Given the description of an element on the screen output the (x, y) to click on. 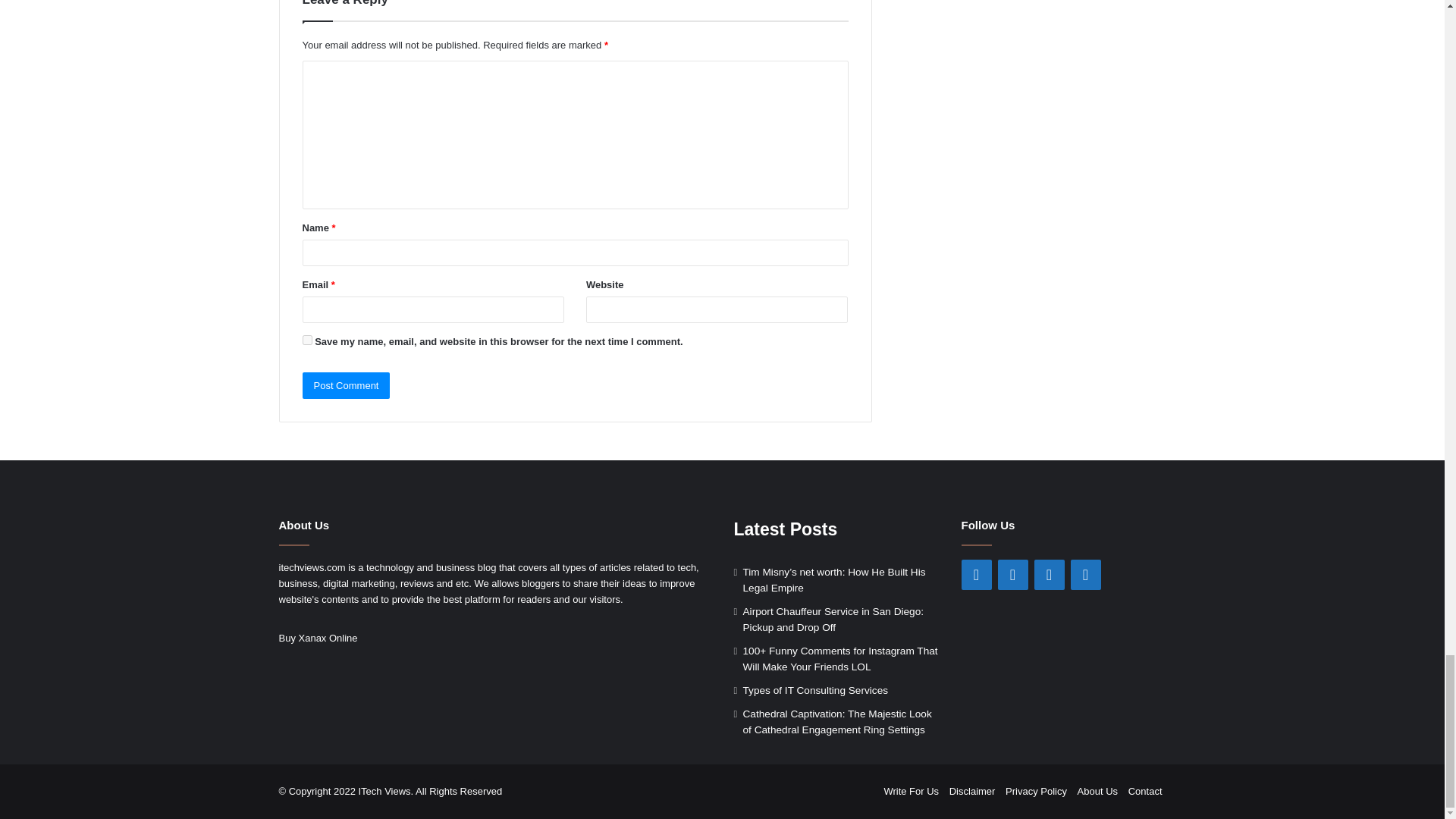
Facebook (975, 574)
Post Comment (345, 385)
LinkedIn (1048, 574)
Twitter (1012, 574)
yes (306, 339)
